Given the description of an element on the screen output the (x, y) to click on. 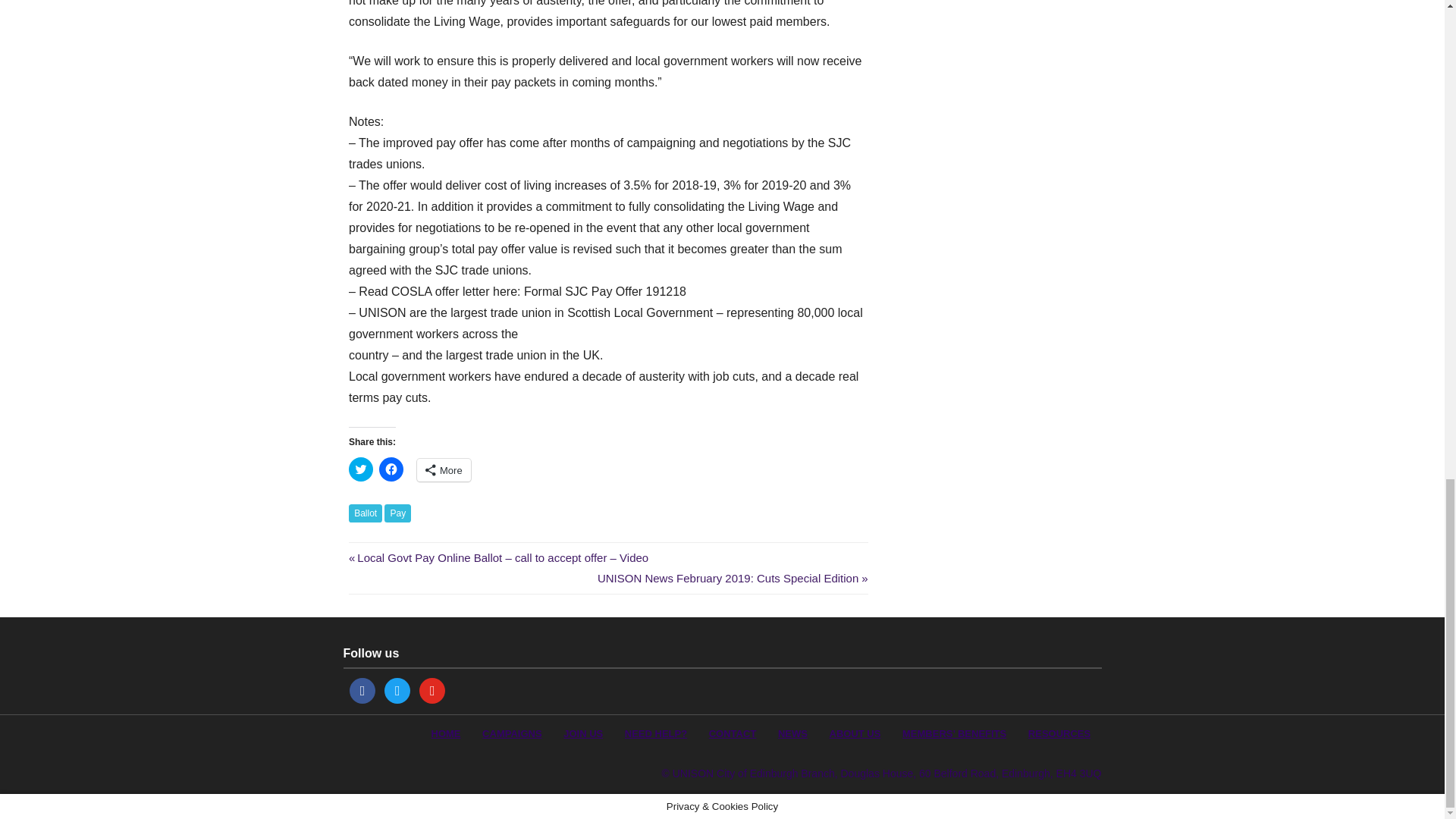
Twitter (397, 689)
Click to share on Twitter (360, 469)
Facebook (362, 689)
Click to share on Facebook (390, 469)
